Given the description of an element on the screen output the (x, y) to click on. 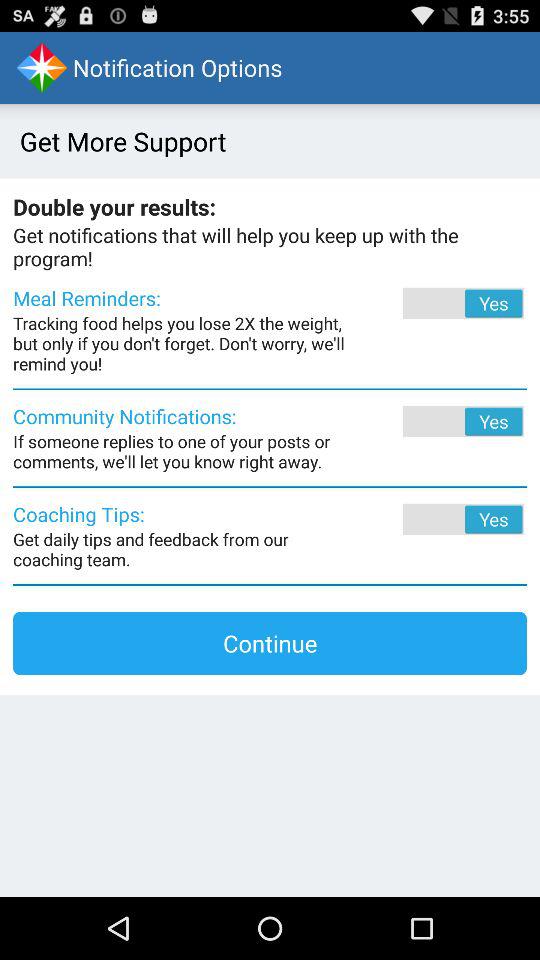
select item to the right of community notifications: (436, 421)
